Given the description of an element on the screen output the (x, y) to click on. 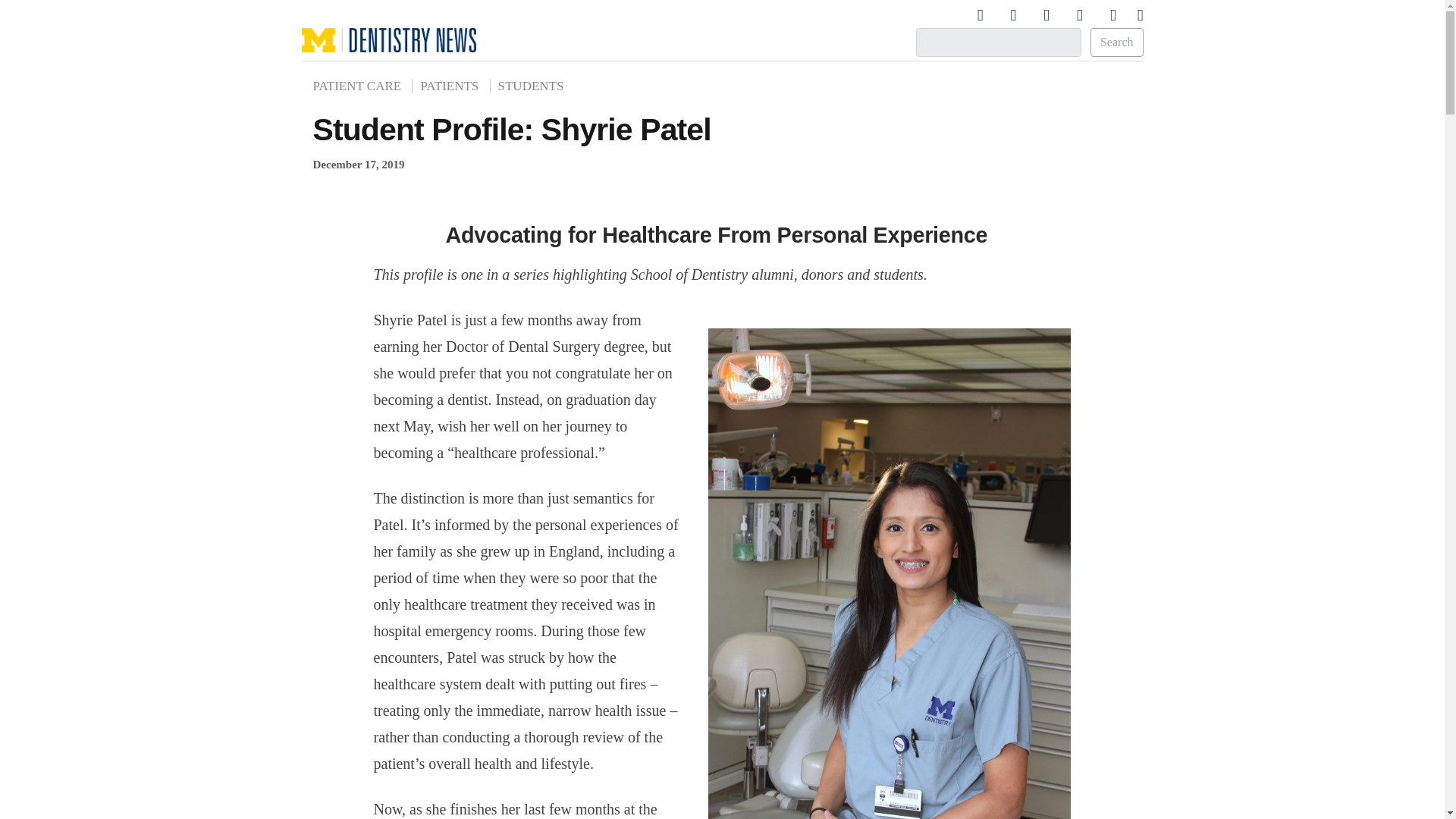
Patients (449, 85)
PATIENT CARE (361, 85)
Students (530, 85)
STUDENTS (530, 85)
Patient Care (361, 85)
Search (1116, 41)
U-M Dentistry News (388, 100)
PATIENTS (449, 85)
